Given the description of an element on the screen output the (x, y) to click on. 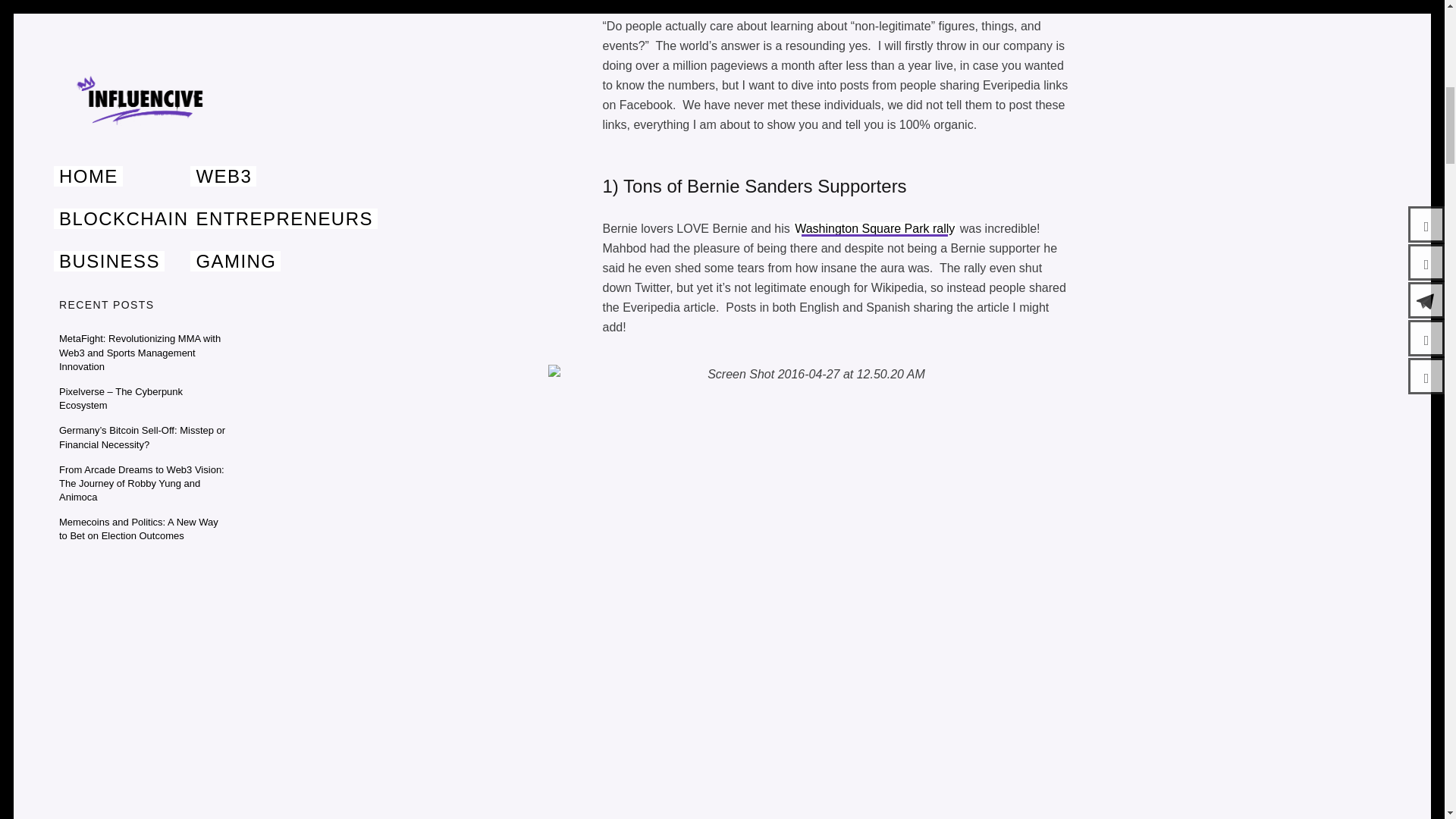
Washington Square Park rally (874, 228)
